Given the description of an element on the screen output the (x, y) to click on. 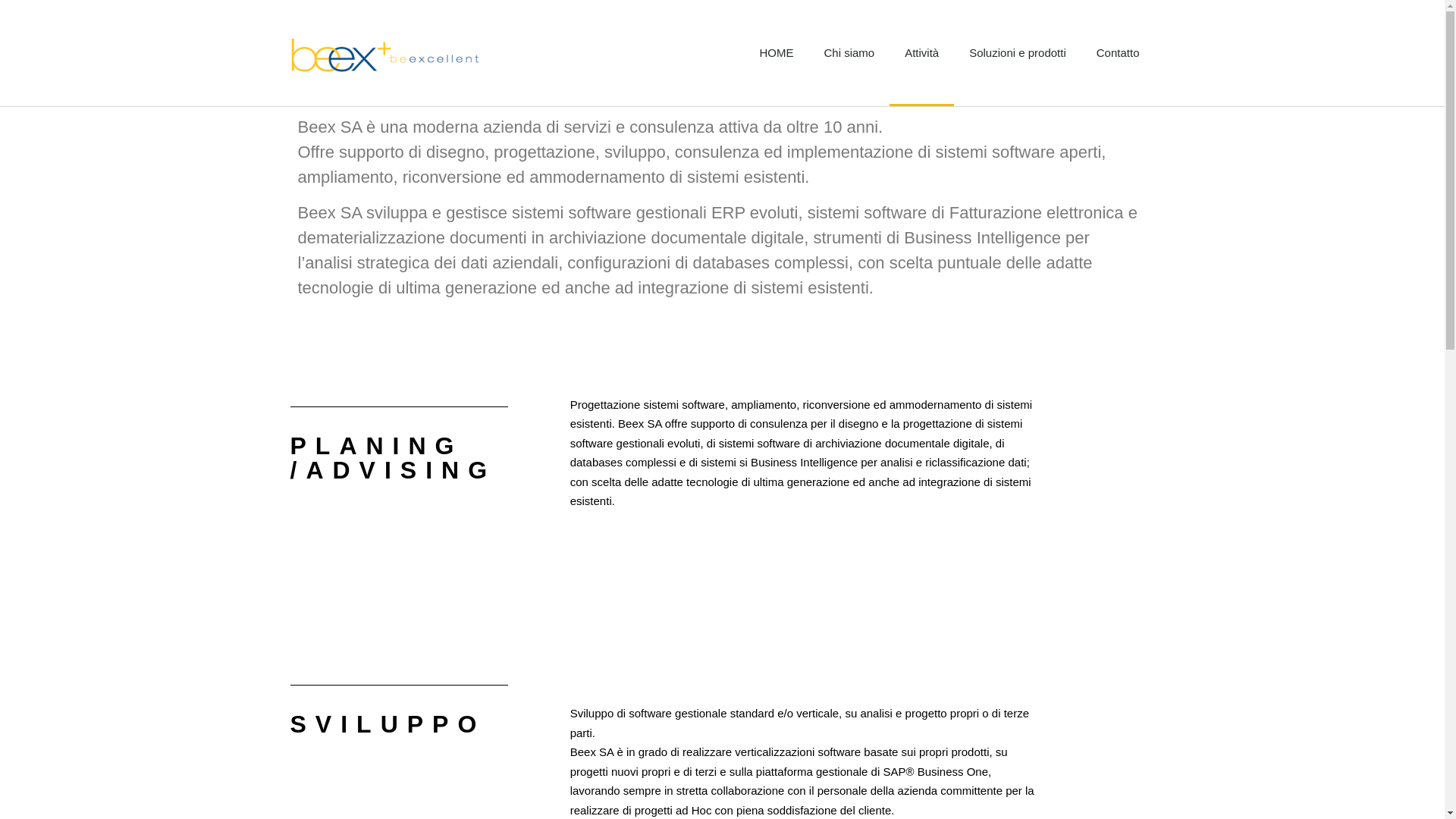
Contatto Element type: text (1117, 53)
HOME Element type: text (775, 53)
Chi siamo Element type: text (848, 53)
Soluzioni e prodotti Element type: text (1017, 53)
